Given the description of an element on the screen output the (x, y) to click on. 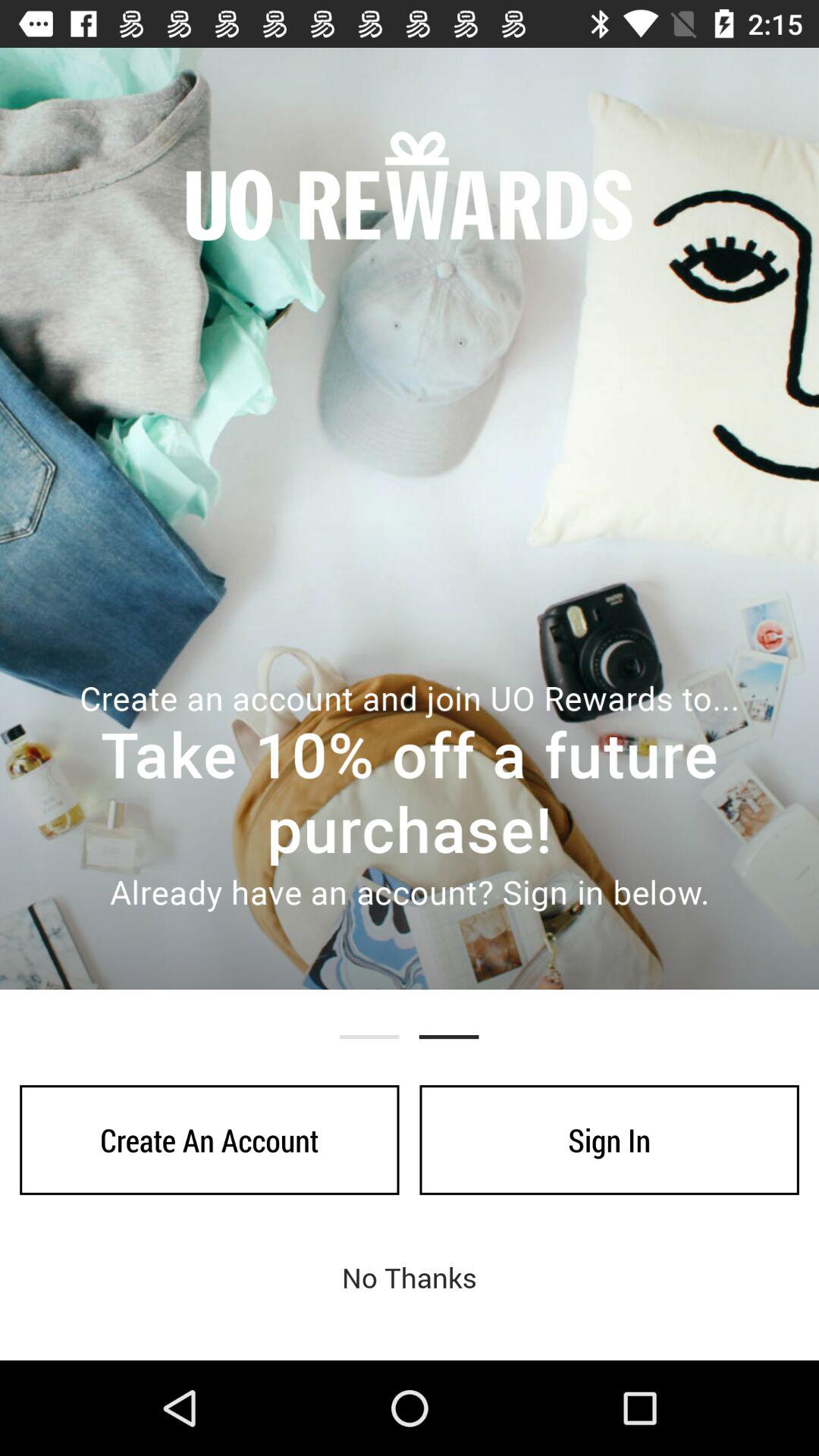
turn on icon at the bottom right corner (609, 1139)
